Given the description of an element on the screen output the (x, y) to click on. 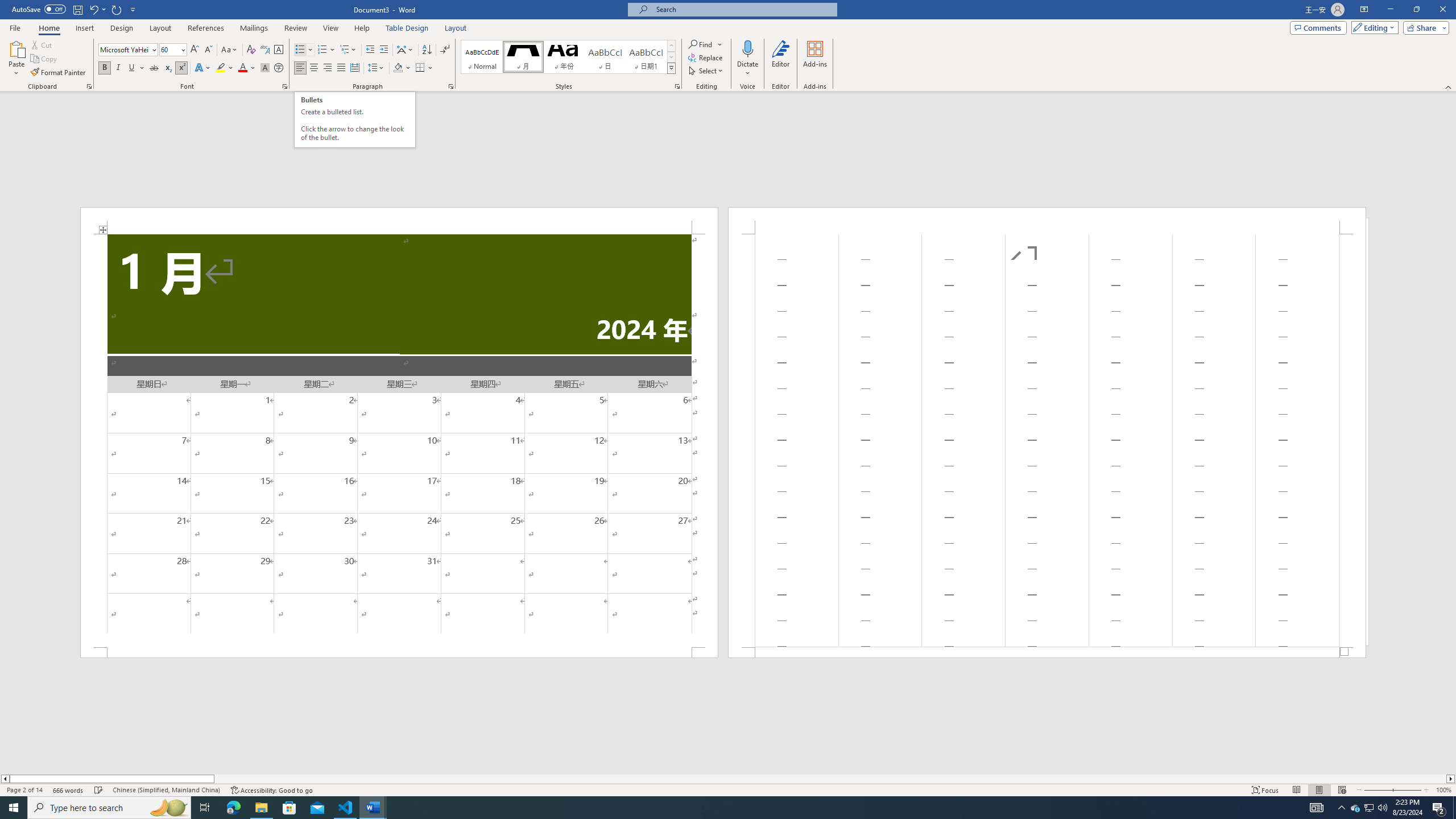
Save (77, 9)
Microsoft search (742, 9)
Styles (670, 67)
Print Layout (1318, 790)
Clear Formatting (250, 49)
Phonetic Guide... (264, 49)
Zoom In (1407, 790)
Character Shading (264, 67)
Shrink Font (208, 49)
Cut (42, 44)
Numbering (326, 49)
Undo Superscript (96, 9)
Column left (5, 778)
